Given the description of an element on the screen output the (x, y) to click on. 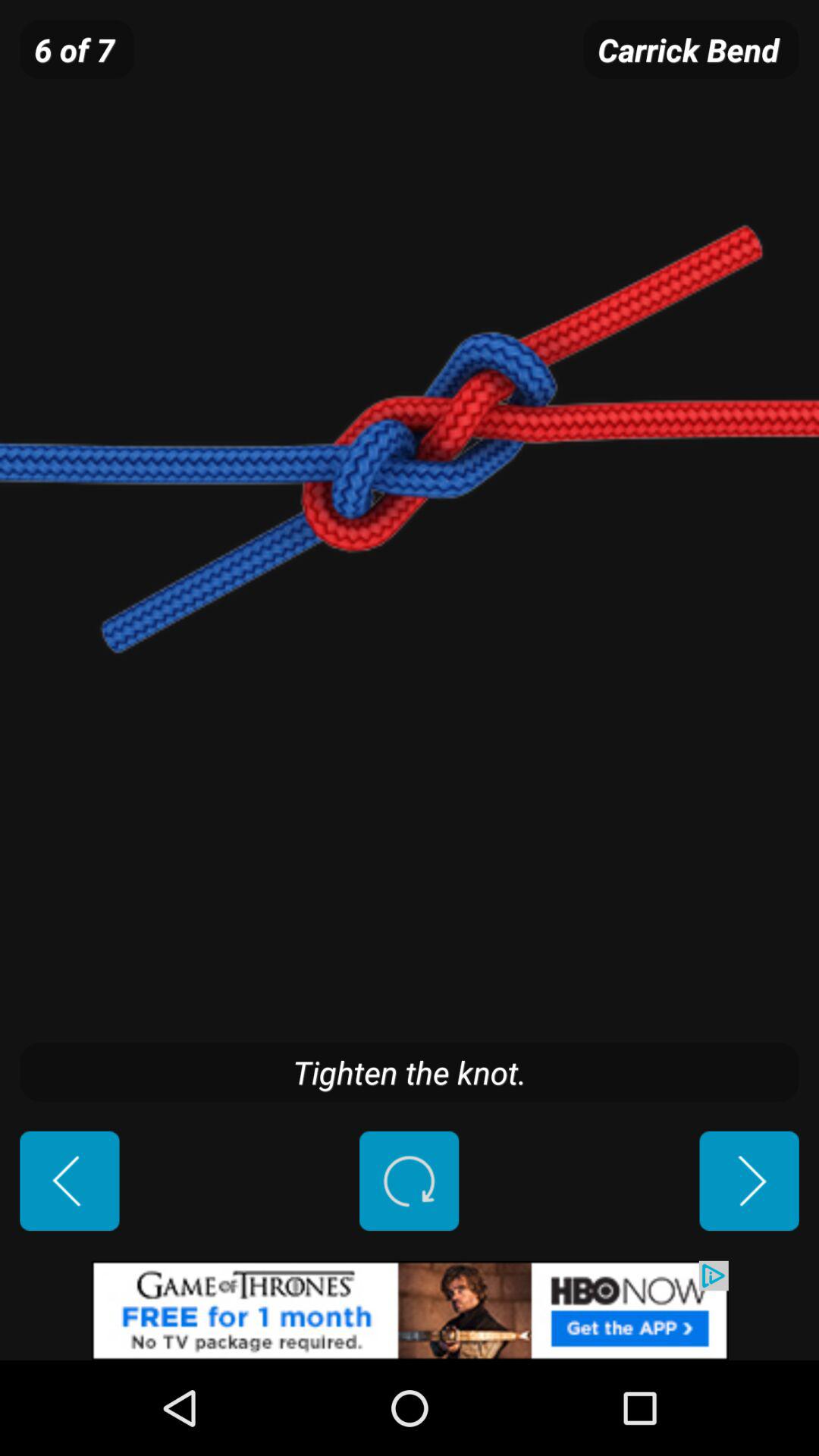
refresh (408, 1180)
